Given the description of an element on the screen output the (x, y) to click on. 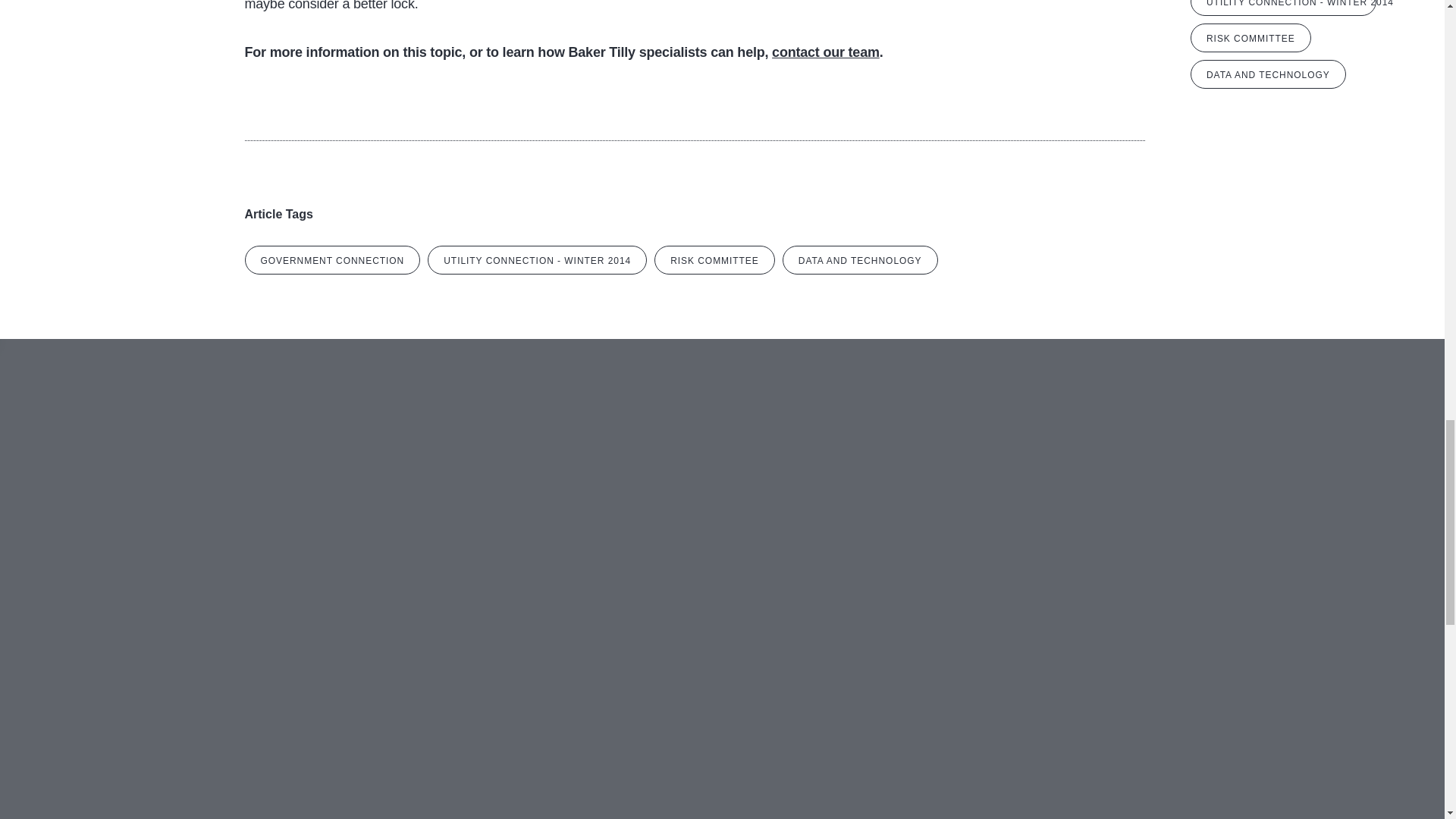
UTILITY CONNECTION - WINTER 2014 (1283, 7)
RISK COMMITTEE (1251, 37)
contact our team (825, 52)
DATA AND TECHNOLOGY (1268, 73)
